Given the description of an element on the screen output the (x, y) to click on. 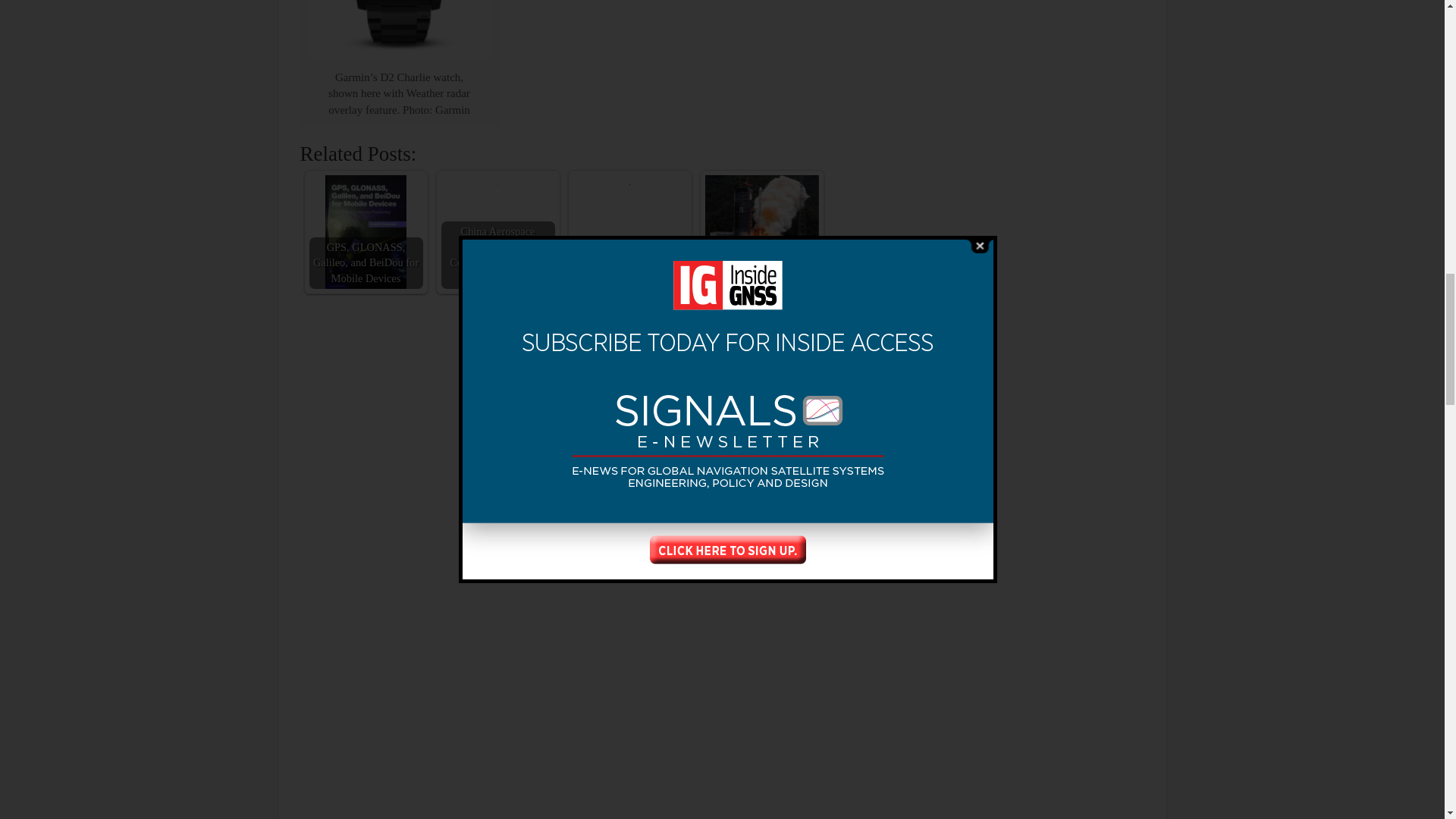
3rd party ad content (1030, 32)
